Given the description of an element on the screen output the (x, y) to click on. 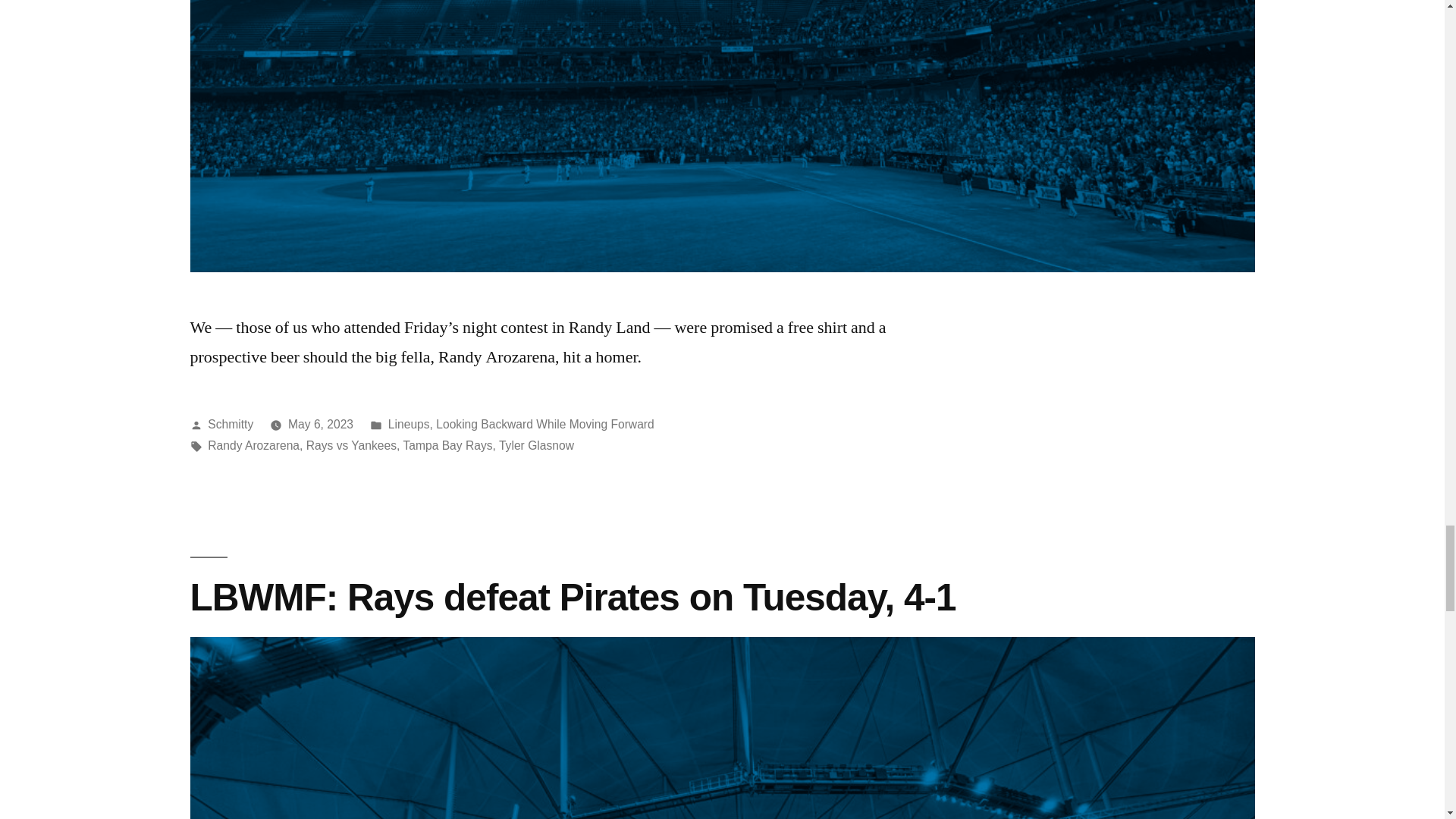
May 6, 2023 (320, 423)
Lineups (408, 423)
Schmitty (230, 423)
Looking Backward While Moving Forward (544, 423)
